Given the description of an element on the screen output the (x, y) to click on. 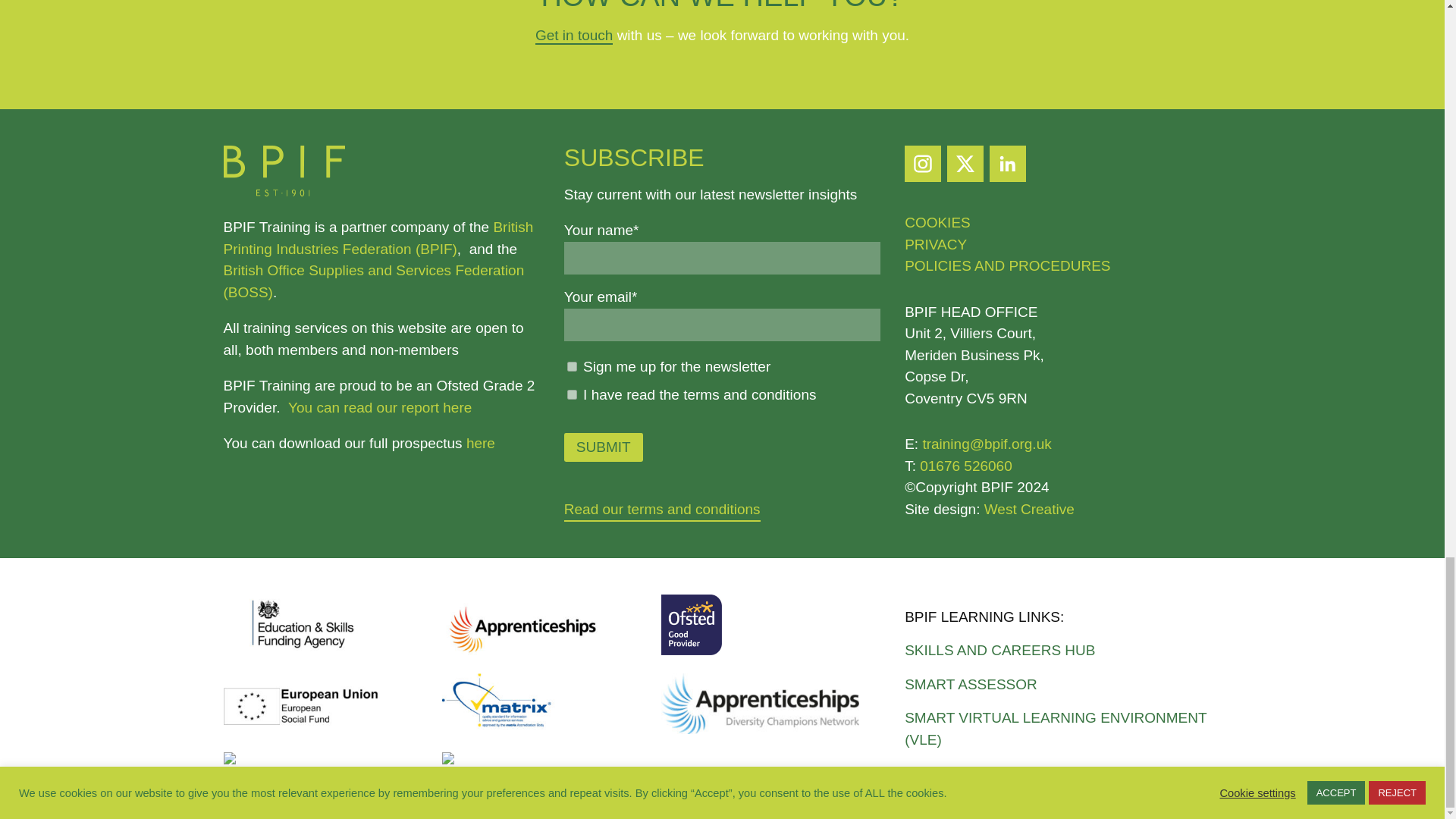
Get in touch (573, 36)
COOKIES (937, 222)
Read our terms and conditions (662, 509)
POLICIES AND PROCEDURES (1006, 265)
You can read our report here (379, 407)
here (480, 442)
BPIF Training (282, 191)
PRIVACY (935, 244)
Submit (603, 447)
Sign me up for the newsletter (571, 366)
01676 526060 (965, 465)
1 (571, 393)
Get in touch (573, 36)
Submit (603, 447)
